Given the description of an element on the screen output the (x, y) to click on. 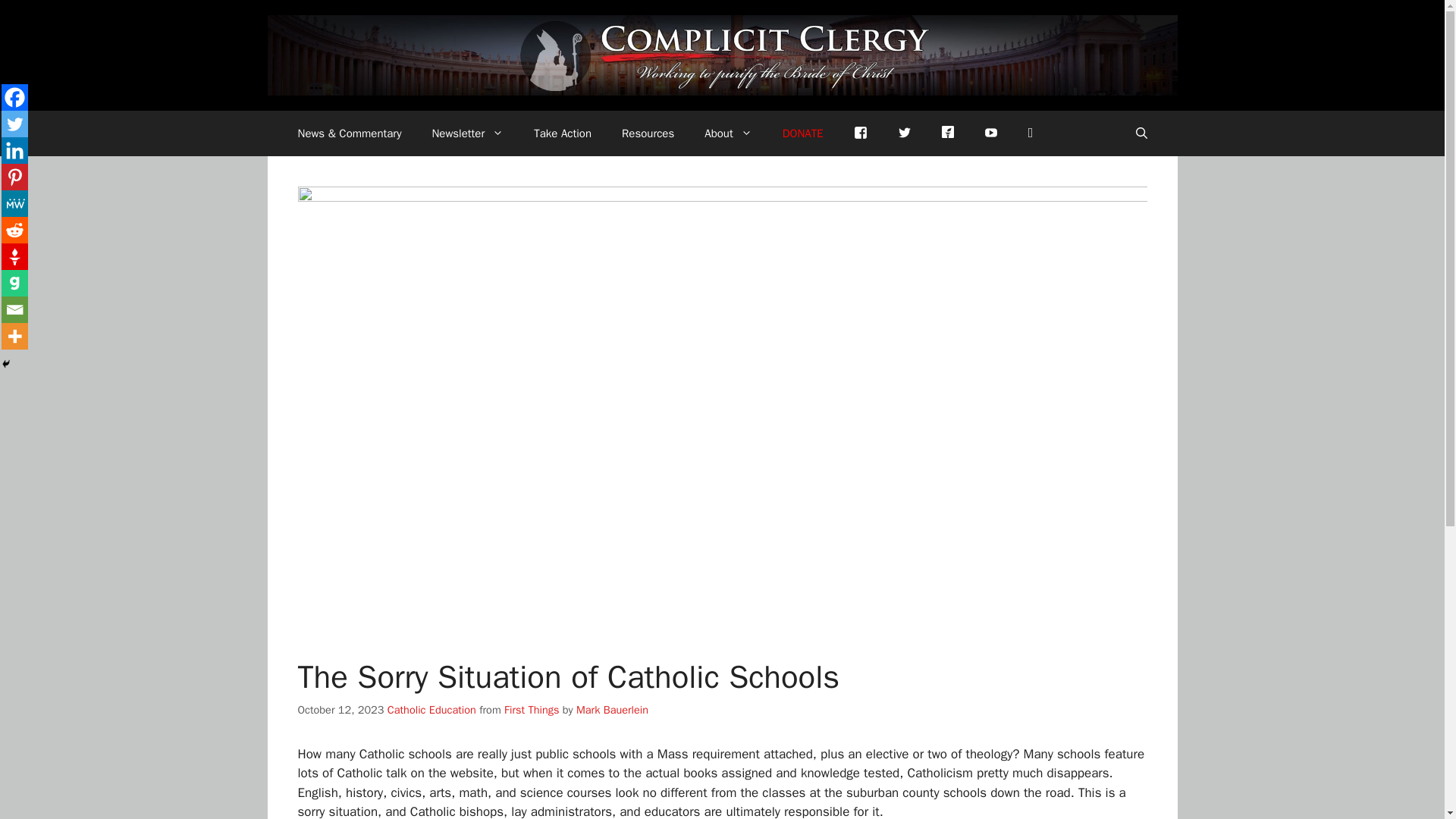
Resources (647, 133)
Gettr (947, 130)
Newsletter (467, 133)
Facebook (14, 97)
About (727, 133)
Take Action (562, 133)
DONATE (802, 133)
Twitter (14, 123)
Mark Bauerlein (611, 709)
Linkedin (14, 150)
